Given the description of an element on the screen output the (x, y) to click on. 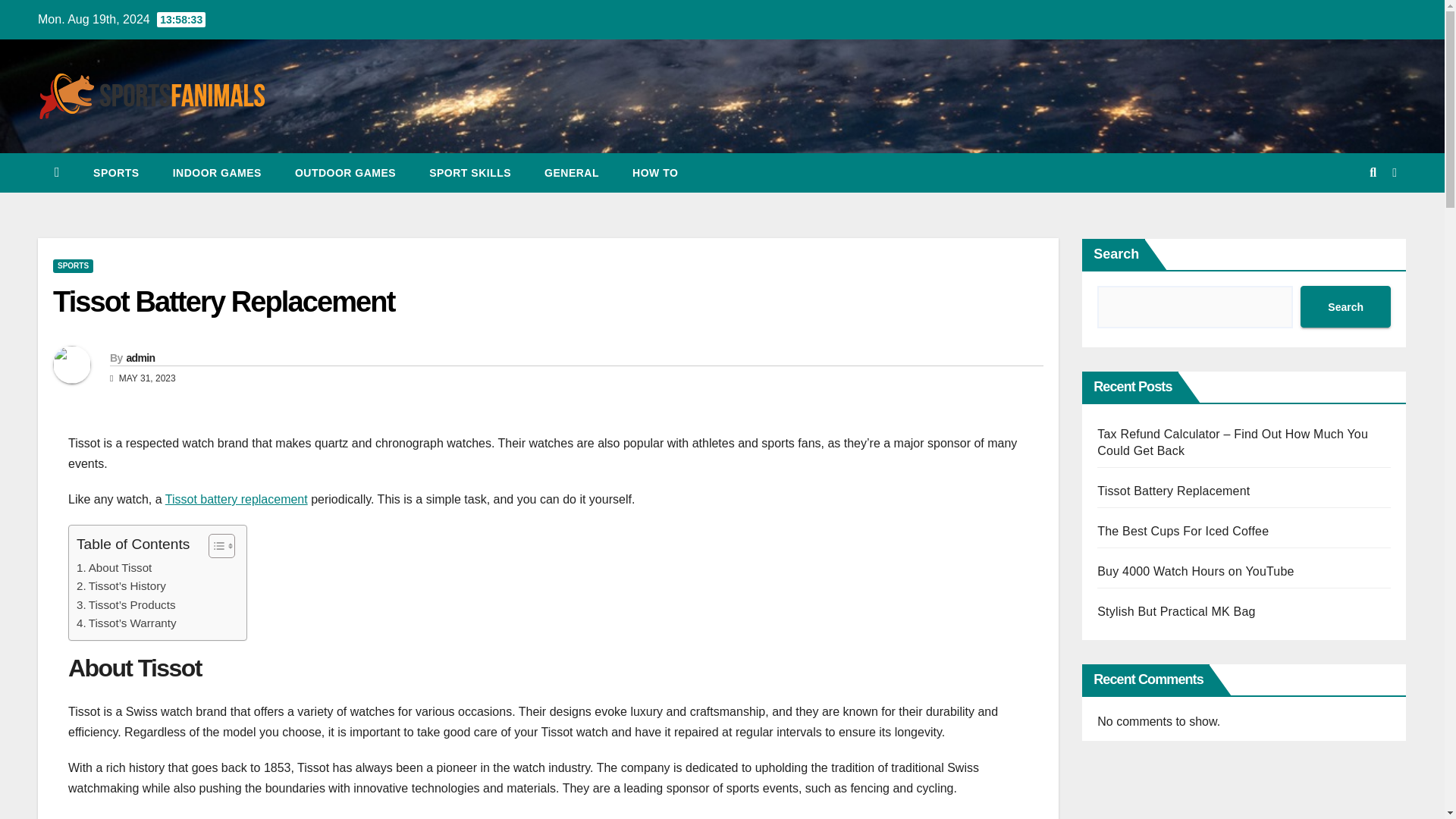
Permalink to: Tissot Battery Replacement (223, 301)
About Tissot (114, 567)
General (571, 172)
SPORTS (116, 172)
OUTDOOR GAMES (345, 172)
Tissot battery replacement (236, 499)
Outdoor Games (345, 172)
About Tissot (114, 567)
HOW TO (654, 172)
Indoor Games (216, 172)
